Given the description of an element on the screen output the (x, y) to click on. 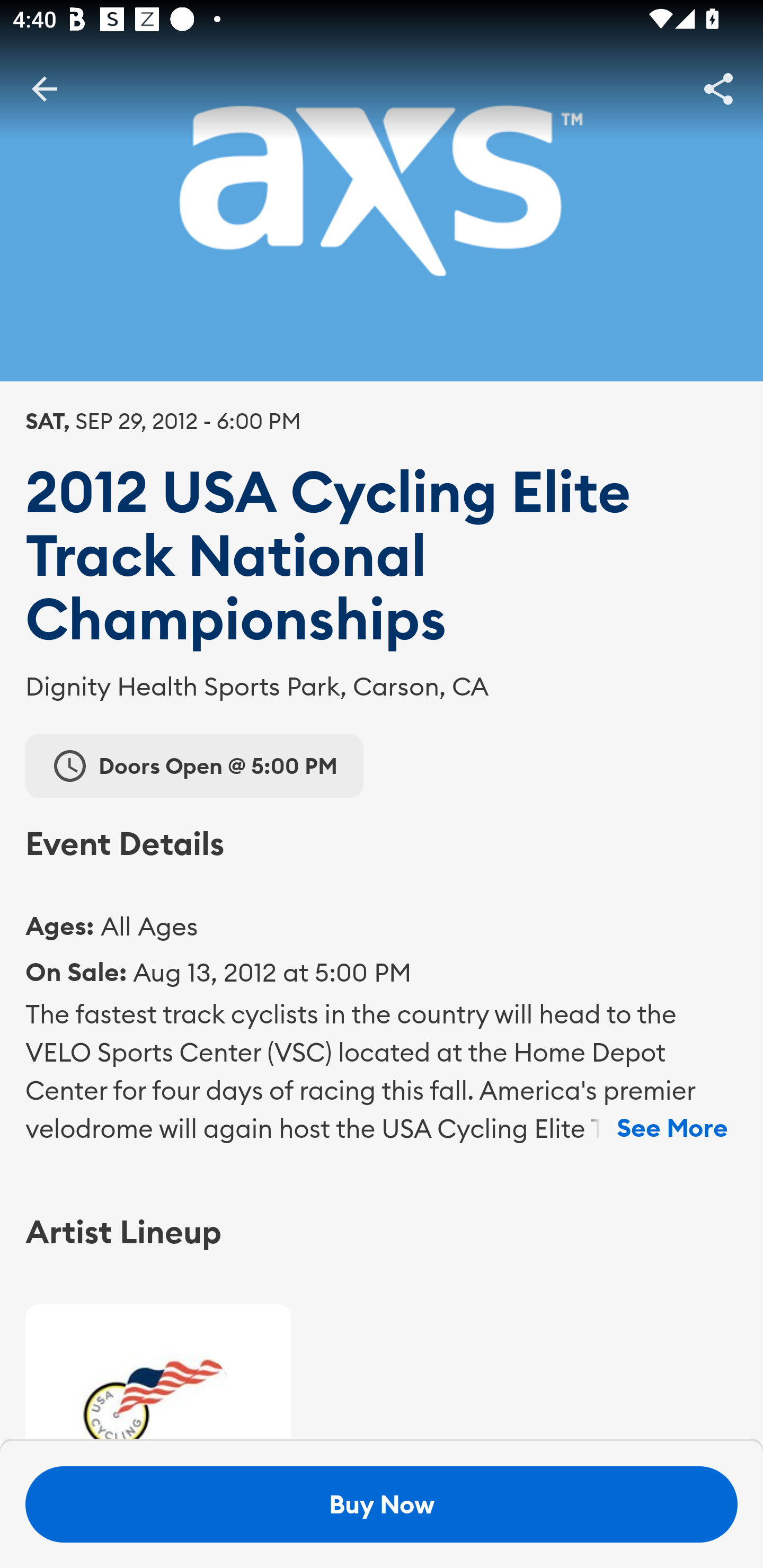
BackButton (44, 88)
Share (718, 88)
See More (671, 1127)
Buy Now (381, 1504)
